Given the description of an element on the screen output the (x, y) to click on. 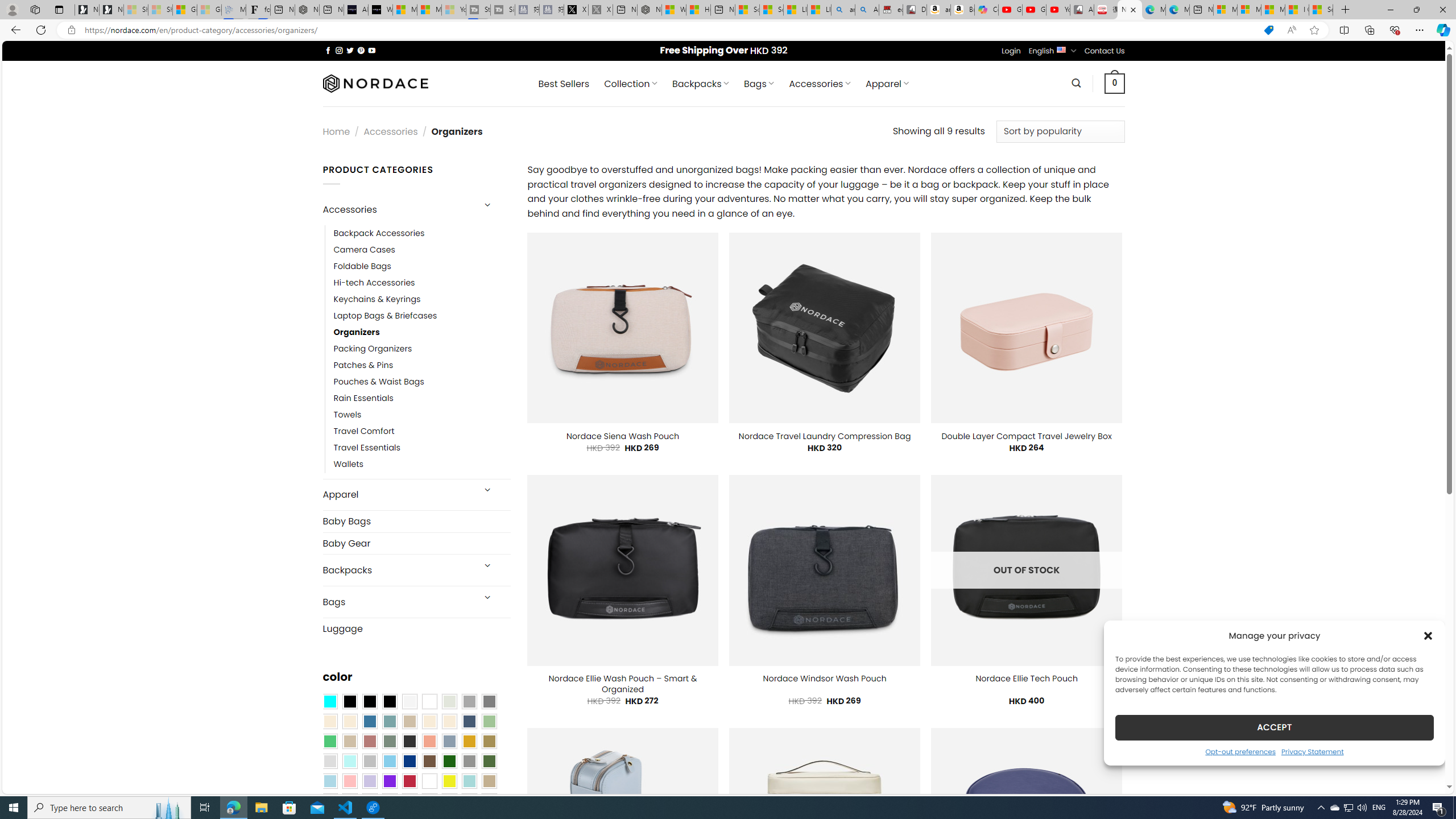
All Black (349, 701)
Rose (369, 741)
Khaki (488, 780)
Aqua Blue (329, 701)
Privacy Statement (1312, 750)
Wallets (348, 464)
Amazon Echo Dot PNG - Search Images (866, 9)
Copilot (Ctrl+Shift+.) (1442, 29)
Red (408, 780)
Gray (468, 761)
Nordace Ellie Tech Pouch (1026, 678)
